Given the description of an element on the screen output the (x, y) to click on. 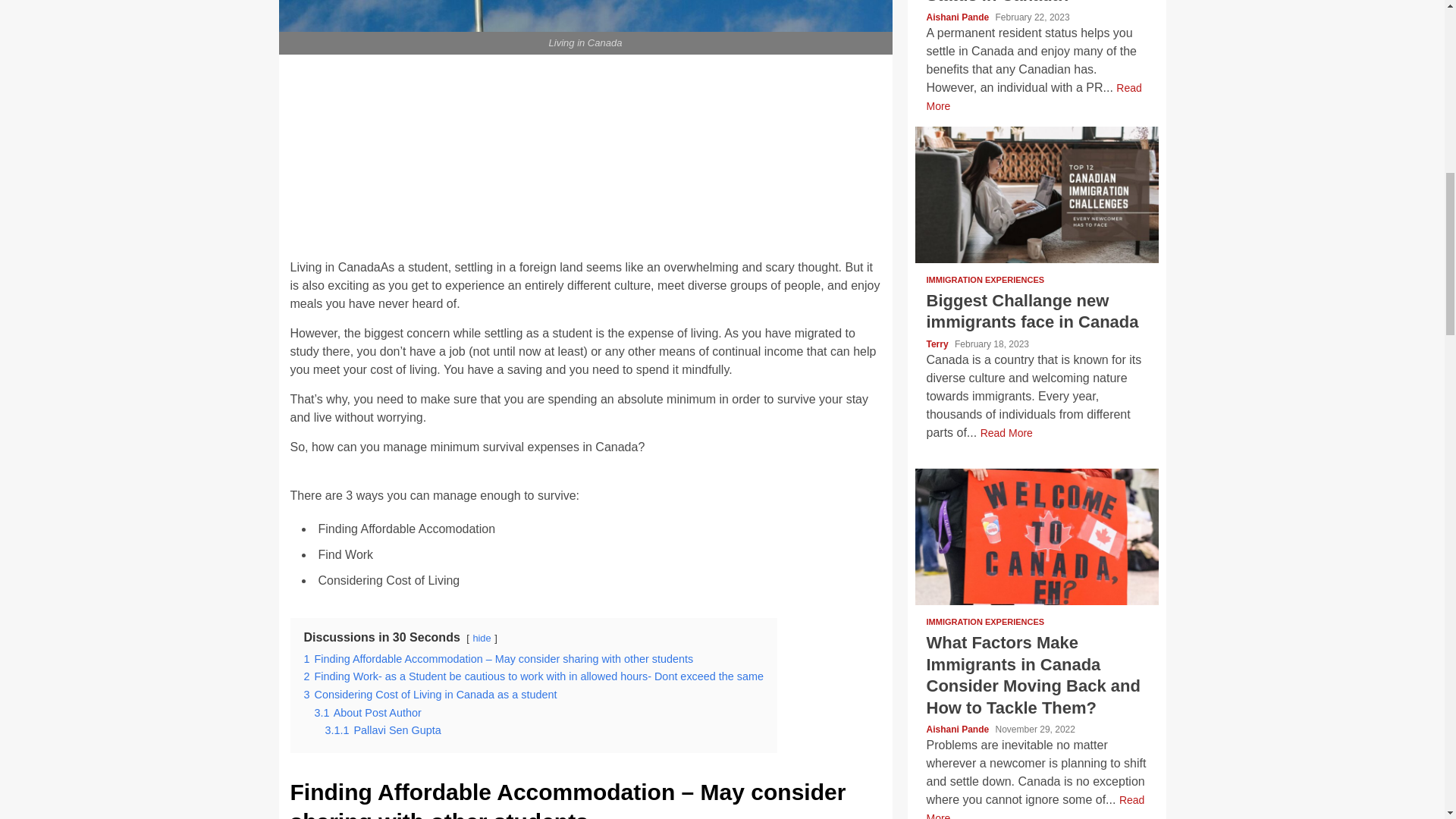
Advertisement (592, 137)
3.1.1 Pallavi Sen Gupta (382, 729)
3.1 About Post Author (367, 712)
3 Considering Cost of Living in Canada as a student (429, 694)
hide (480, 637)
